Given the description of an element on the screen output the (x, y) to click on. 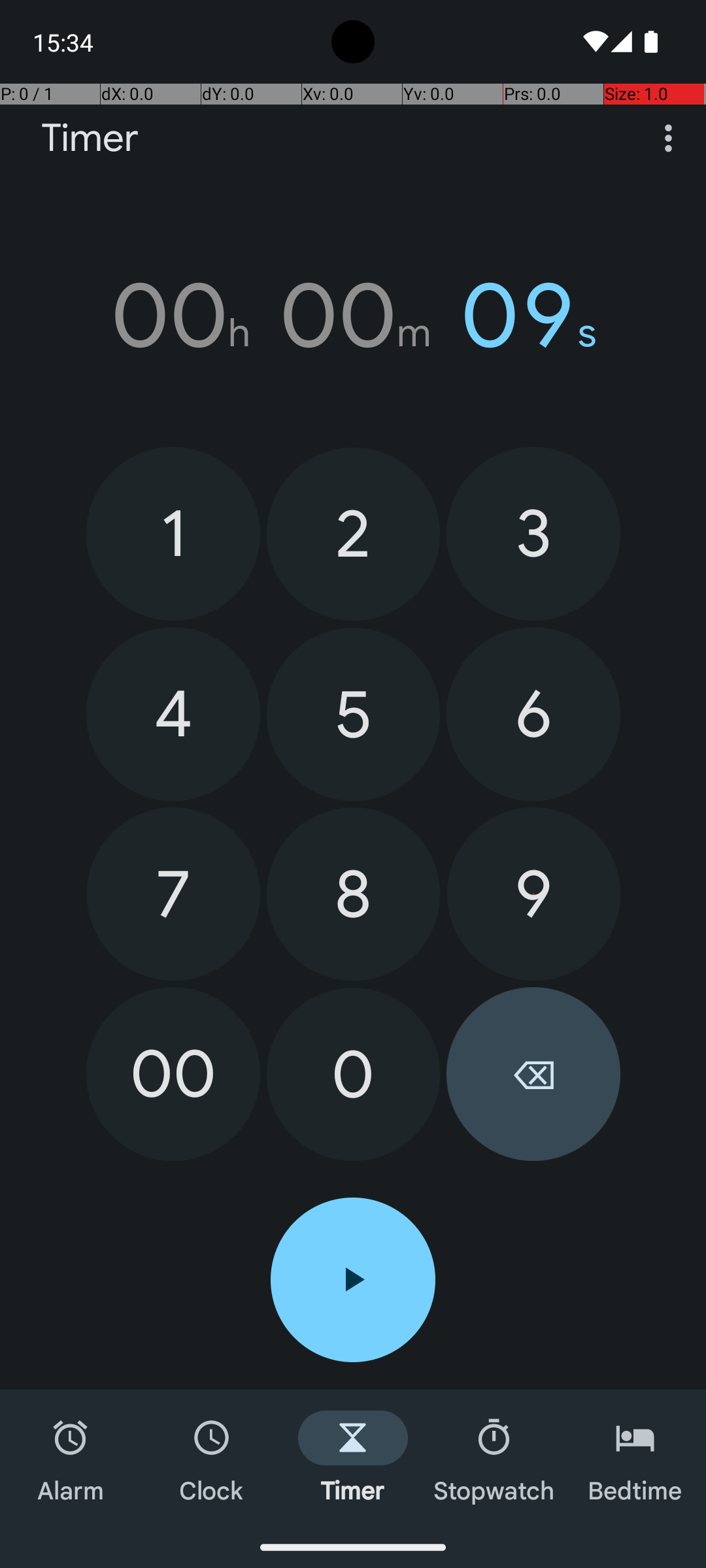
00h 00m 09s Element type: android.widget.TextView (353, 315)
Wifi signal full. Element type: android.widget.FrameLayout (593, 41)
